Given the description of an element on the screen output the (x, y) to click on. 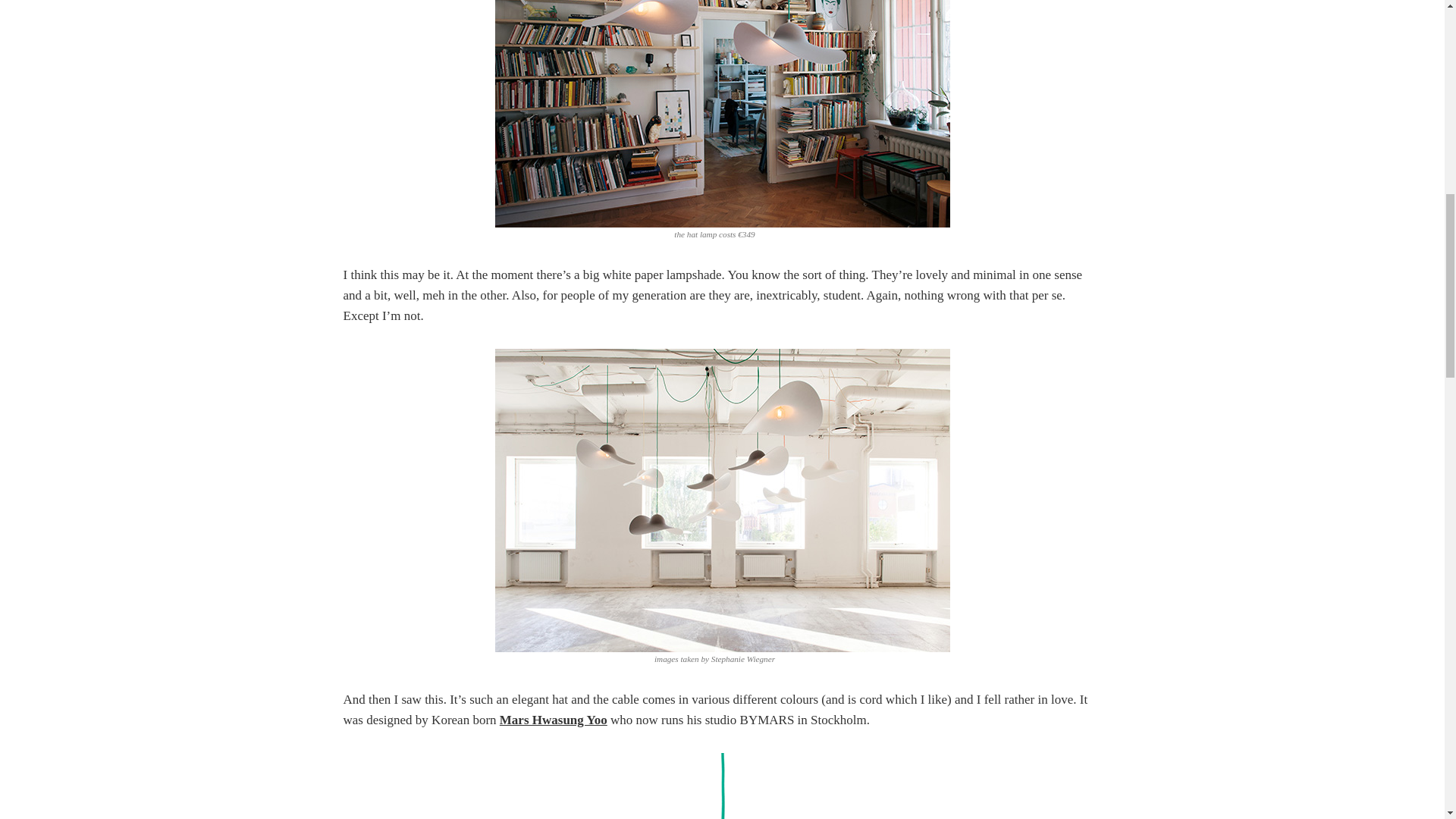
hat lamp (722, 113)
Mars Hwasung Yoo (553, 719)
